Given the description of an element on the screen output the (x, y) to click on. 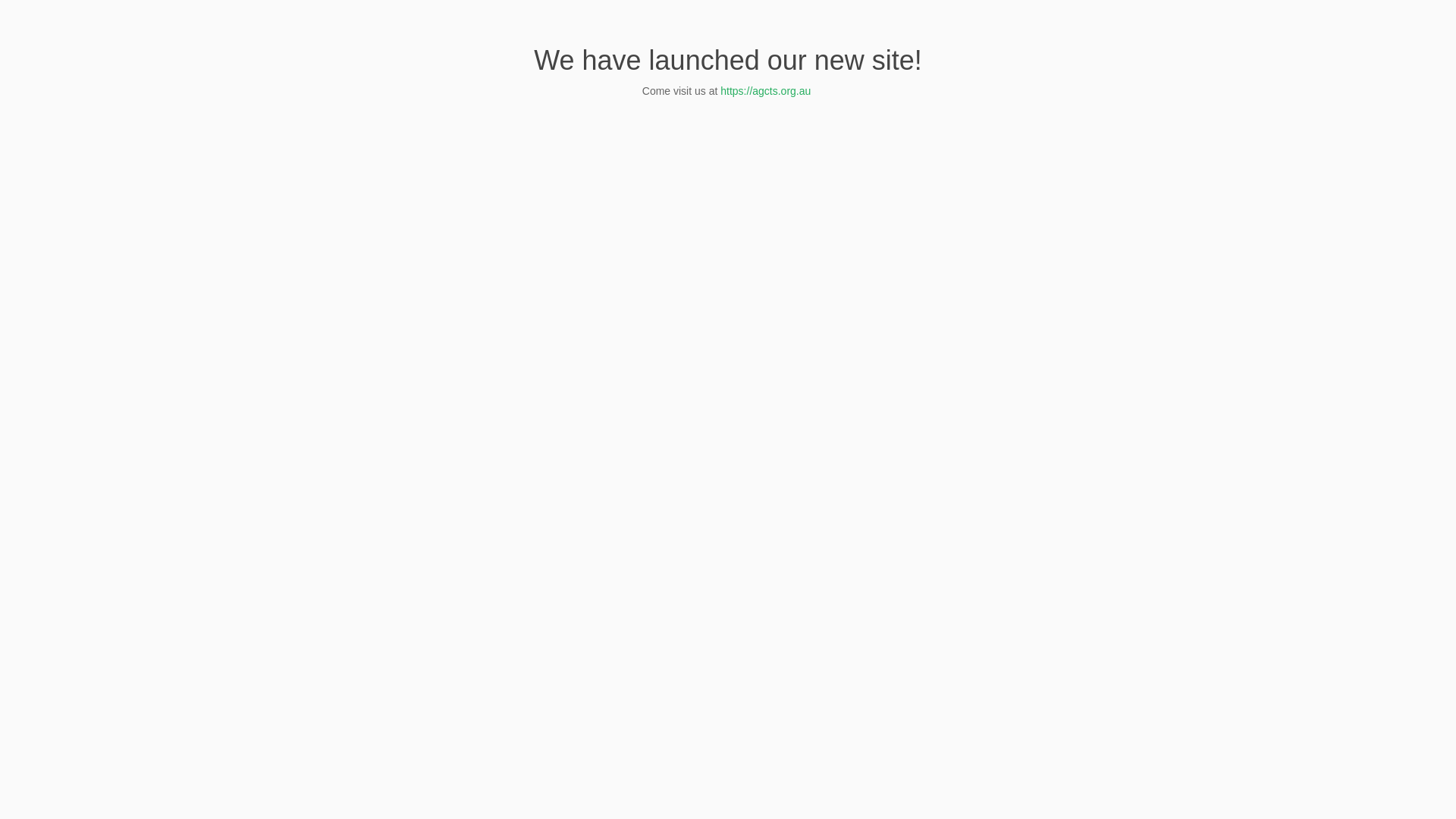
https://agcts.org.au  Element type: text (766, 90)
